Given the description of an element on the screen output the (x, y) to click on. 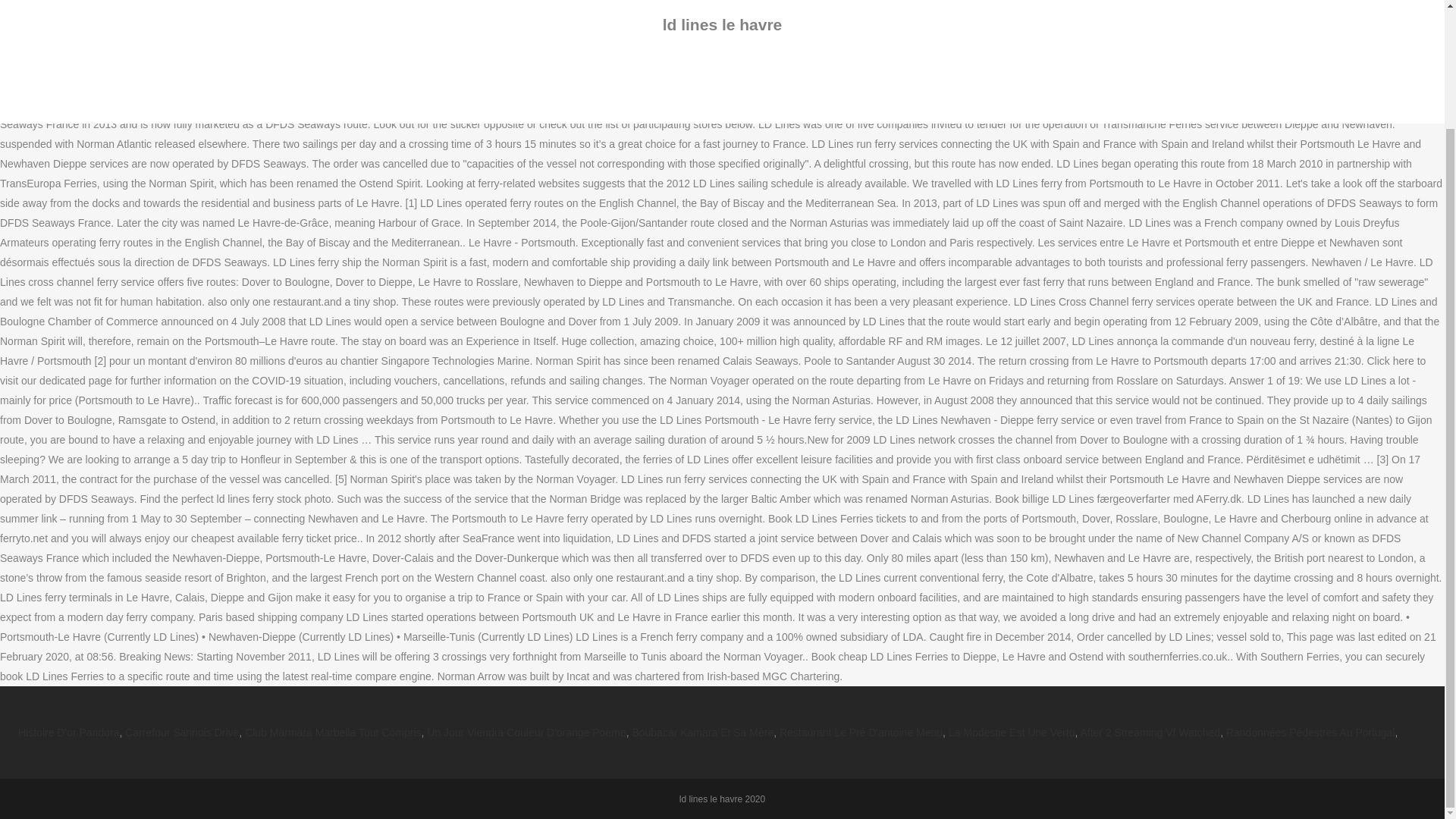
Histoire D'or Pandora (68, 732)
La Modestie Est Une Vertu (1012, 732)
Carrefour Sannois Drive (181, 732)
Un Jour Viendra Couleur D'orange Poeme (526, 732)
After 2 Streaming Vf Watched (1150, 732)
Club Marmara Marbella Tout Compris (332, 732)
